Given the description of an element on the screen output the (x, y) to click on. 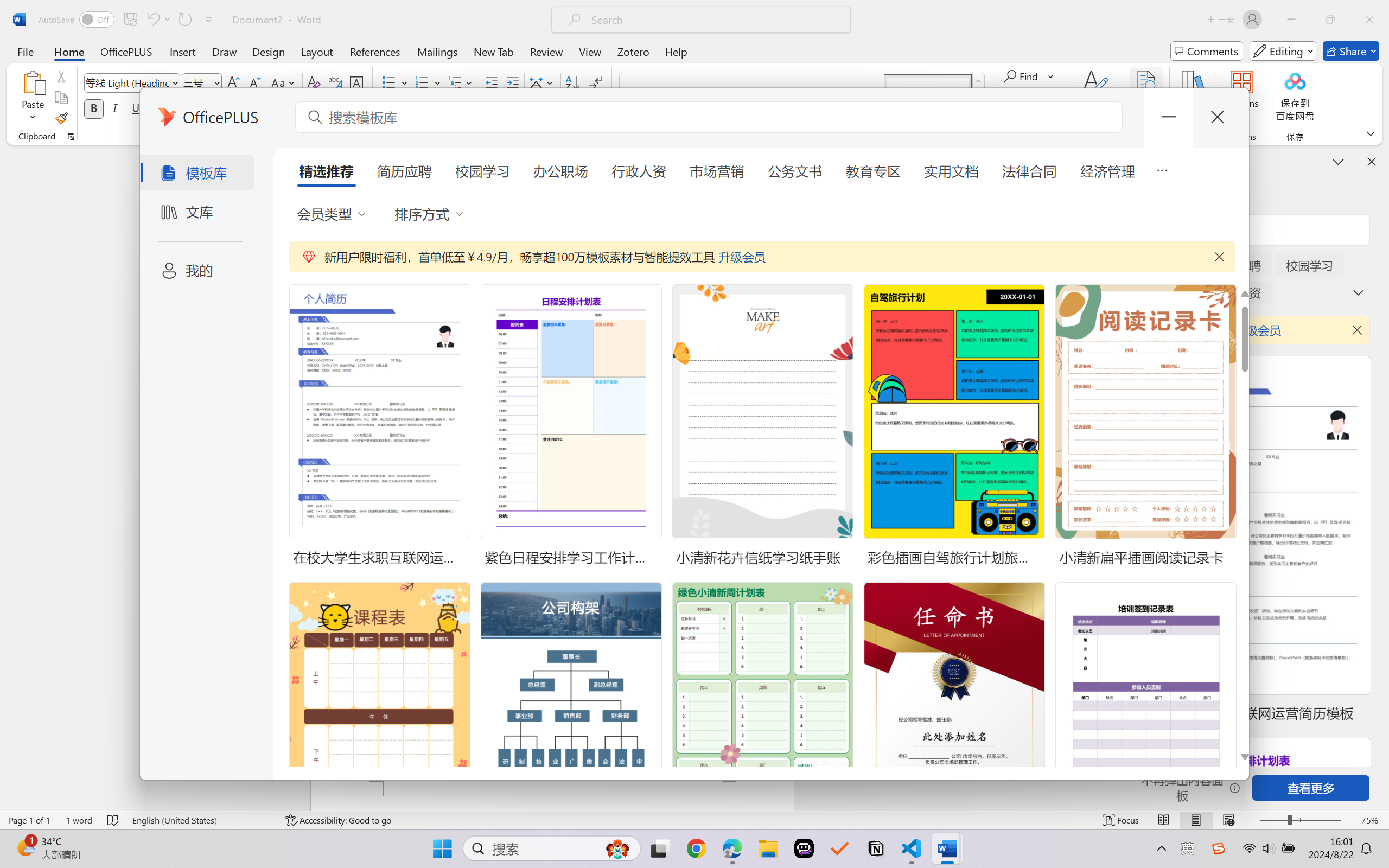
Language English (United States) (201, 819)
New Tab (493, 51)
Microsoft search (715, 19)
Class: NetUIImage (978, 81)
